Given the description of an element on the screen output the (x, y) to click on. 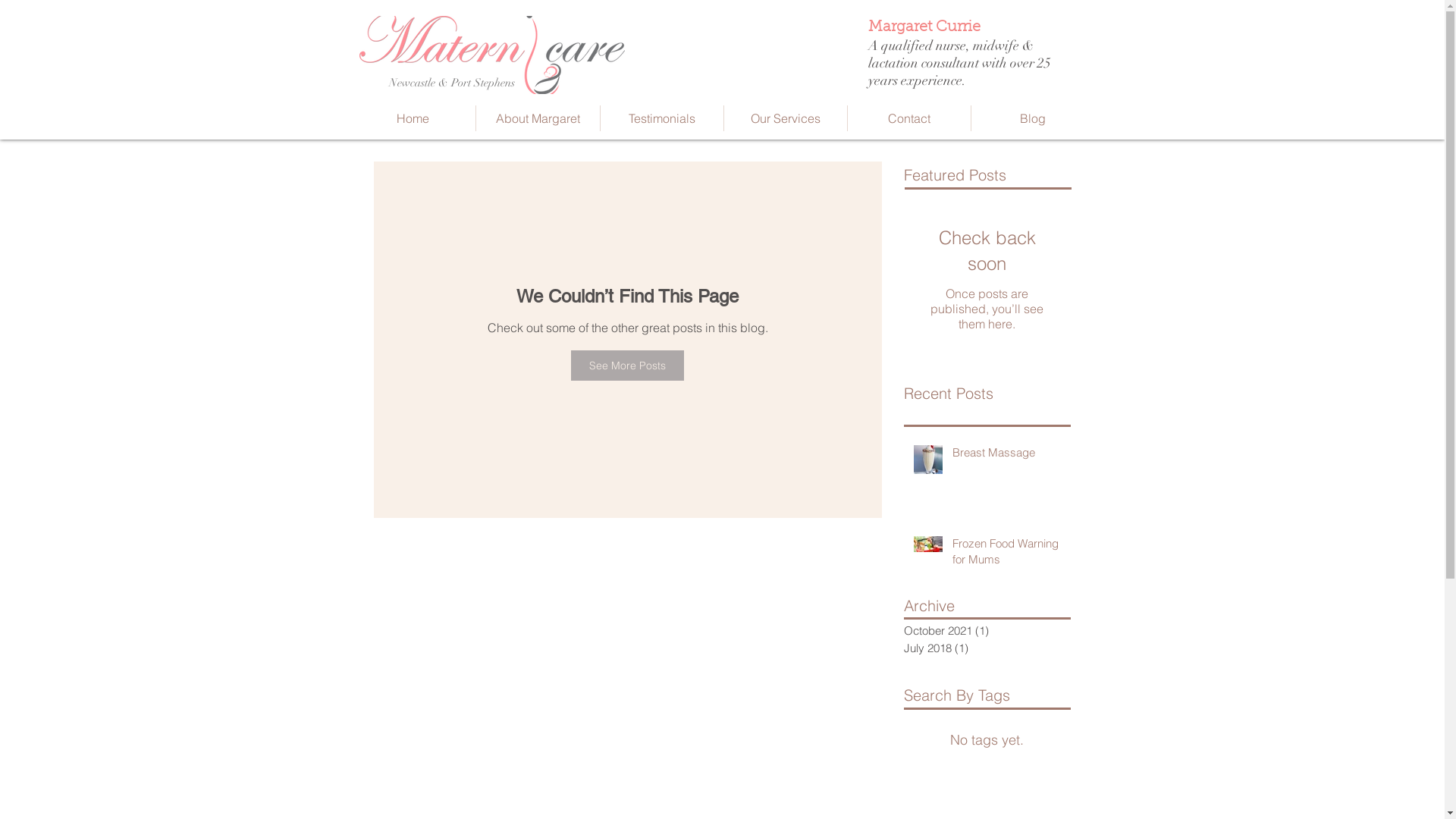
Blog Element type: text (1031, 118)
July 2018 (1) Element type: text (983, 648)
October 2021 (1) Element type: text (983, 631)
Frozen Food Warning for Mums Element type: text (1006, 554)
See More Posts Element type: text (627, 365)
Contact Element type: text (908, 118)
Margaret Currie Element type: text (923, 26)
Our Services Element type: text (784, 118)
About Margaret Element type: text (537, 118)
Testimonials Element type: text (661, 118)
Breast Massage Element type: text (1006, 455)
Home Element type: text (412, 118)
